Given the description of an element on the screen output the (x, y) to click on. 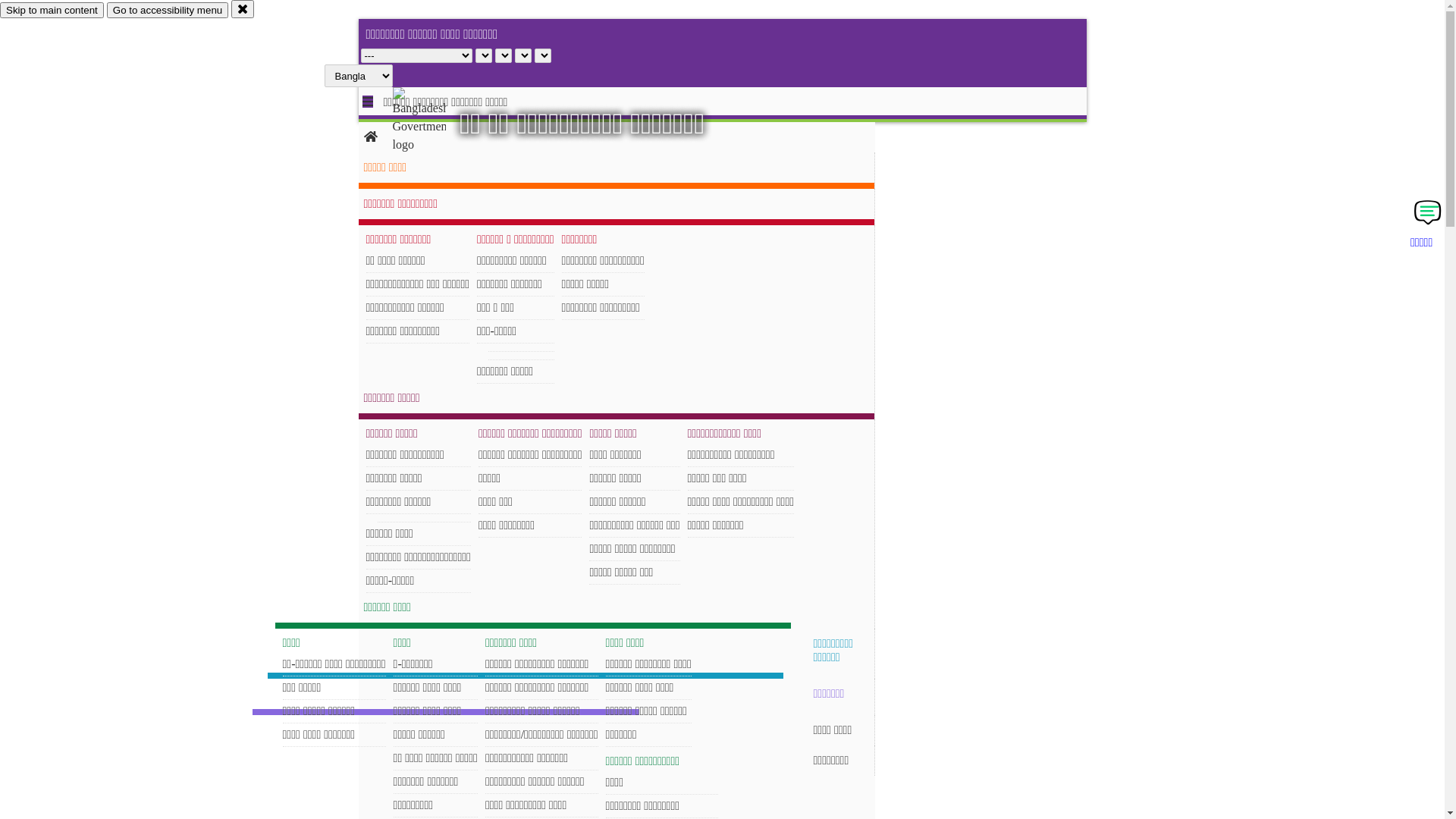

                
             Element type: hover (431, 120)
Go to accessibility menu Element type: text (167, 10)
Skip to main content Element type: text (51, 10)
close Element type: hover (242, 9)
